Given the description of an element on the screen output the (x, y) to click on. 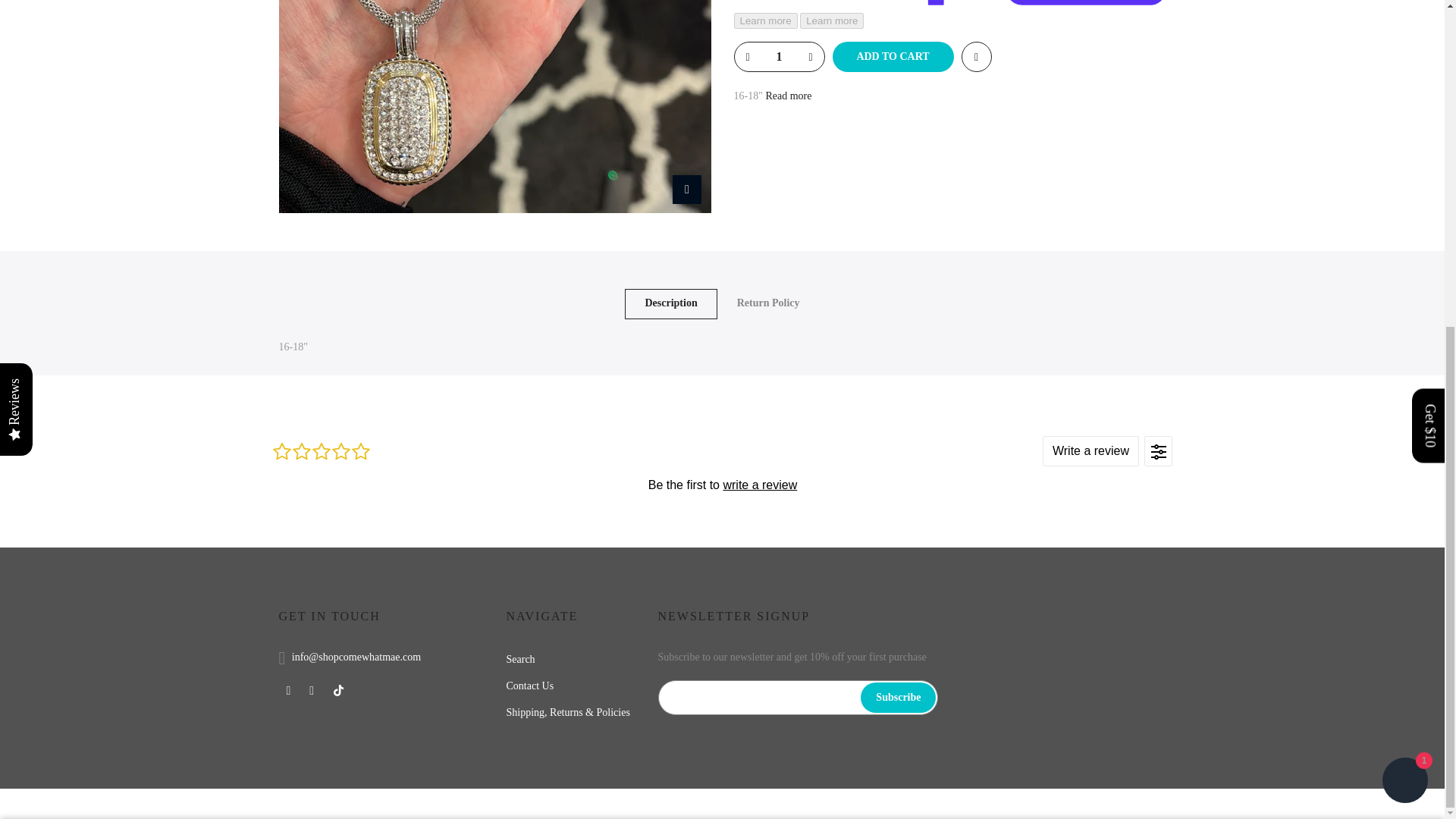
Description (670, 304)
ADD TO CART (892, 56)
Read more (787, 95)
Return Policy (768, 304)
Contact Us (530, 685)
1 (1001, 317)
Search (520, 659)
Shopify online store chat (1404, 245)
1 (778, 56)
Product reviews widget (721, 483)
